Given the description of an element on the screen output the (x, y) to click on. 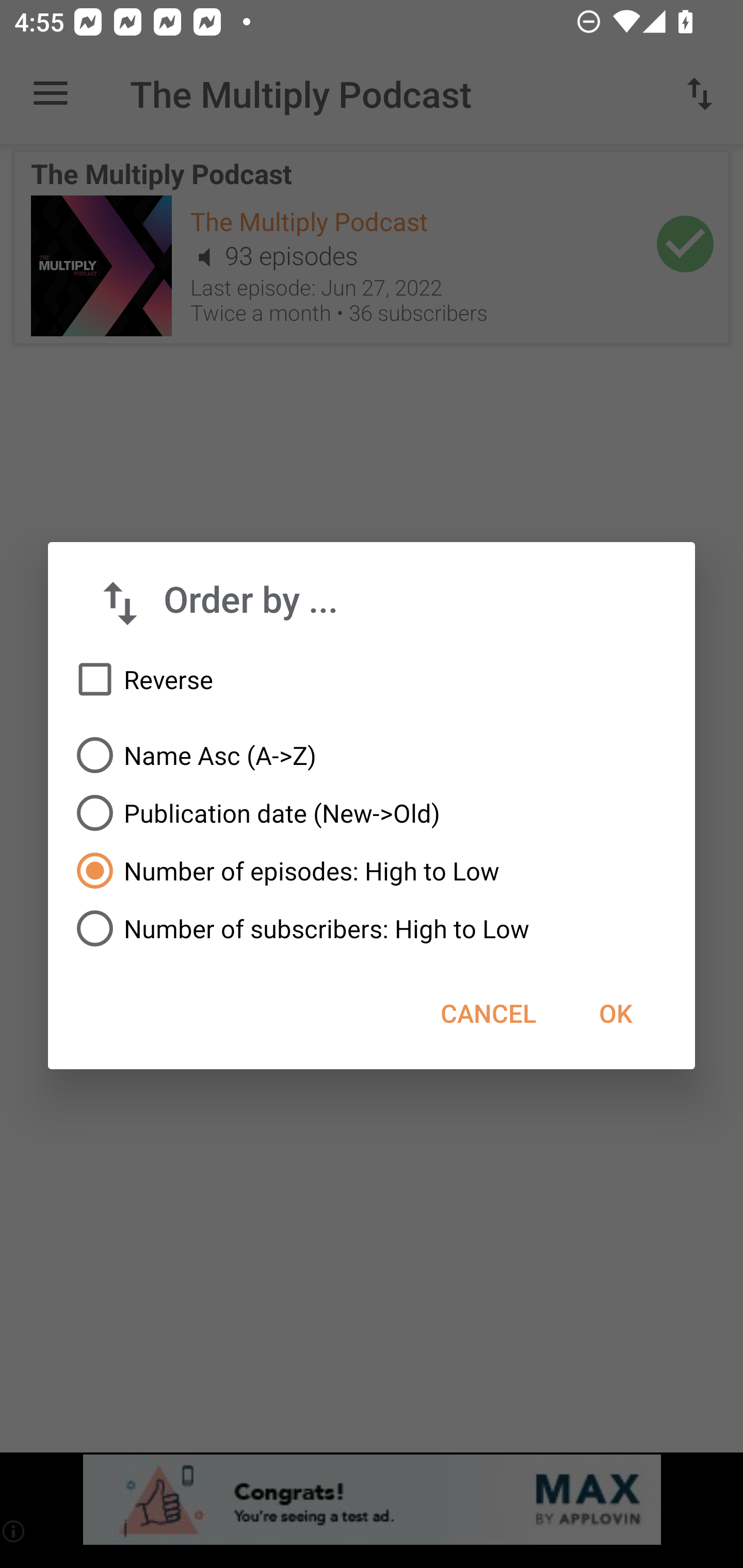
Reverse (371, 679)
Name Asc (A->Z) (371, 754)
Publication date (New->Old) (371, 813)
Number of episodes: High to Low (371, 871)
Number of subscribers: High to Low (371, 929)
CANCEL (488, 1012)
OK (615, 1012)
